Given the description of an element on the screen output the (x, y) to click on. 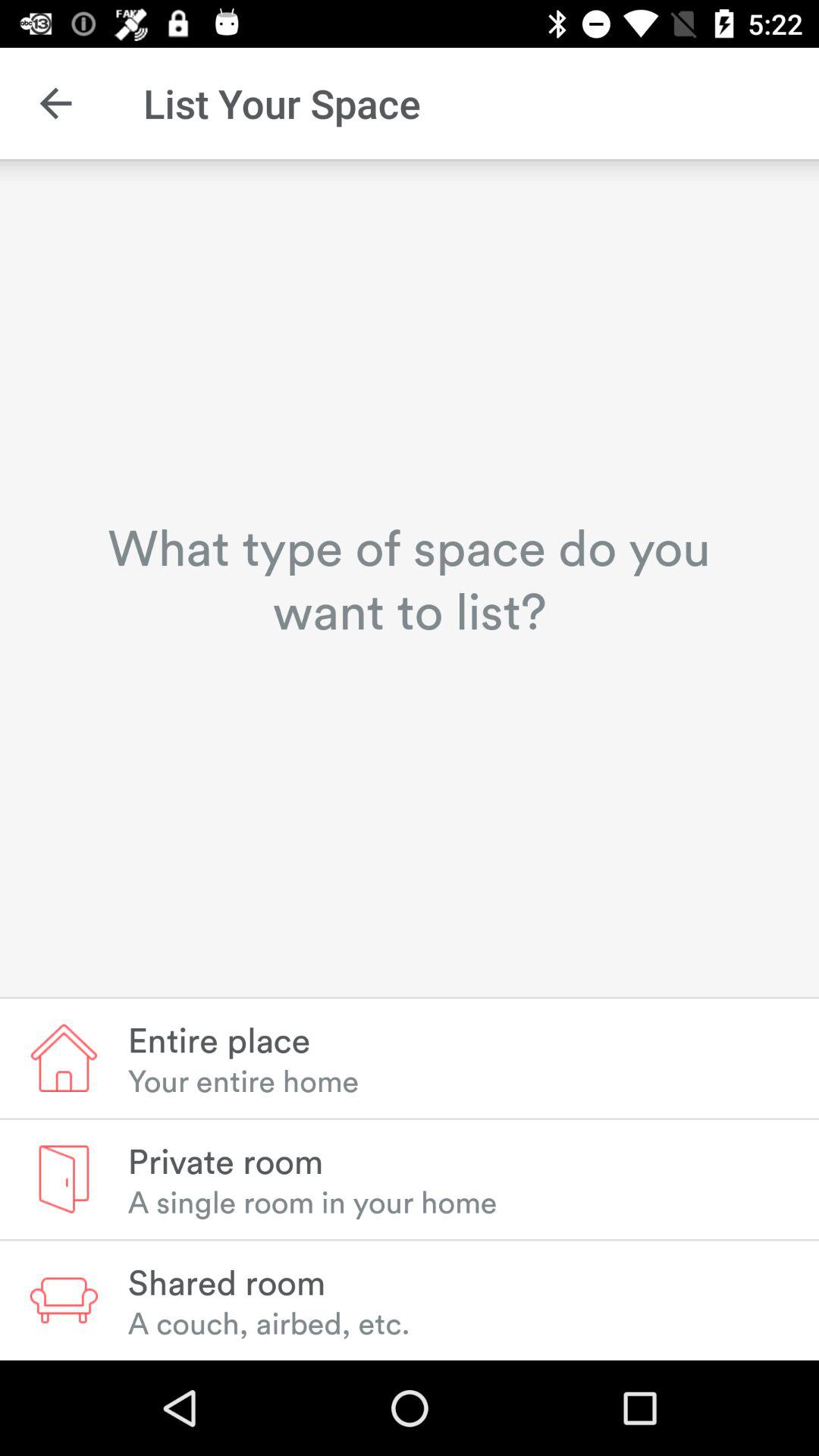
open the icon next to list your space icon (55, 103)
